Given the description of an element on the screen output the (x, y) to click on. 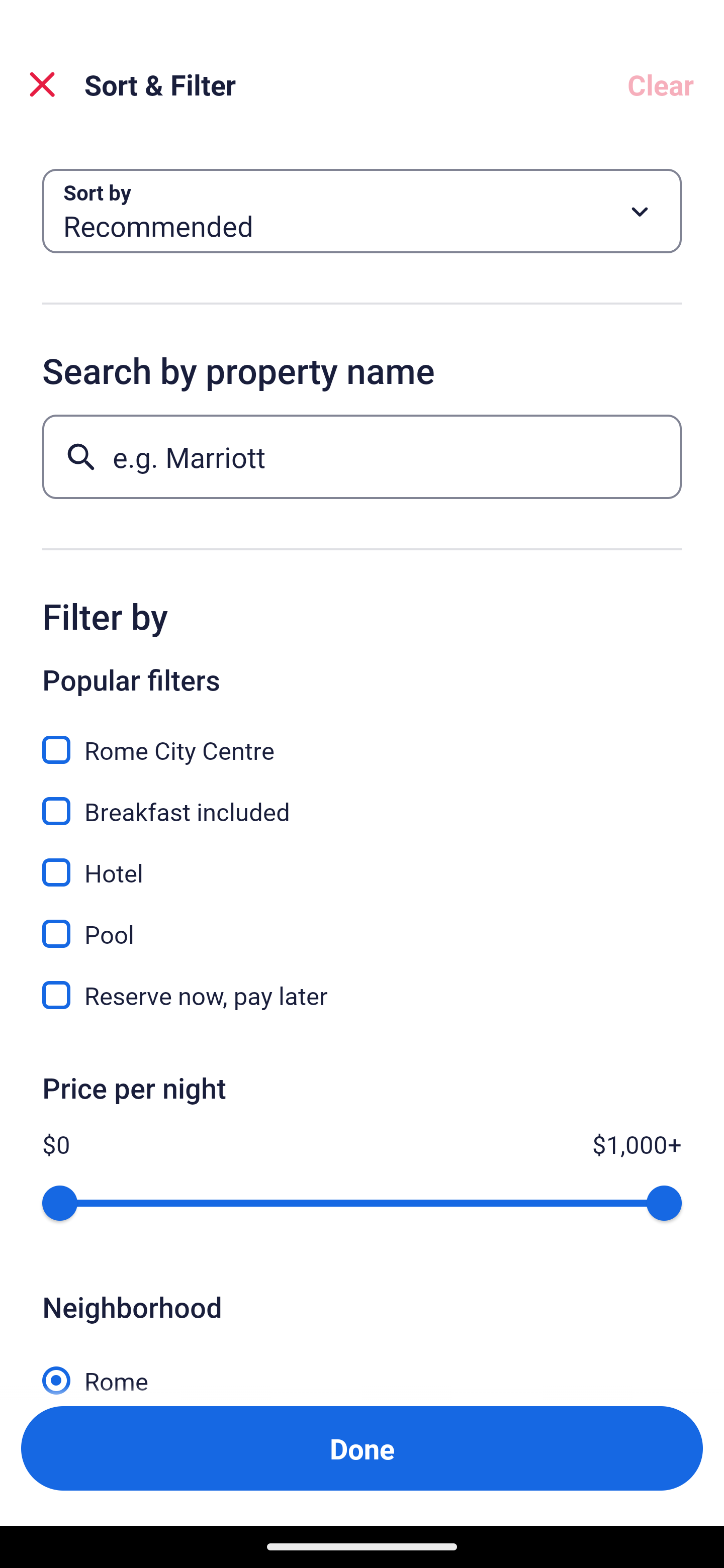
Close Sort and Filter (42, 84)
Clear (660, 84)
Sort by Button Recommended (361, 211)
e.g. Marriott Button (361, 455)
Rome City Centre, Rome City Centre (361, 738)
Breakfast included, Breakfast included (361, 800)
Hotel, Hotel (361, 861)
Pool, Pool (361, 922)
Reserve now, pay later, Reserve now, pay later (361, 995)
Apply and close Sort and Filter Done (361, 1448)
